Given the description of an element on the screen output the (x, y) to click on. 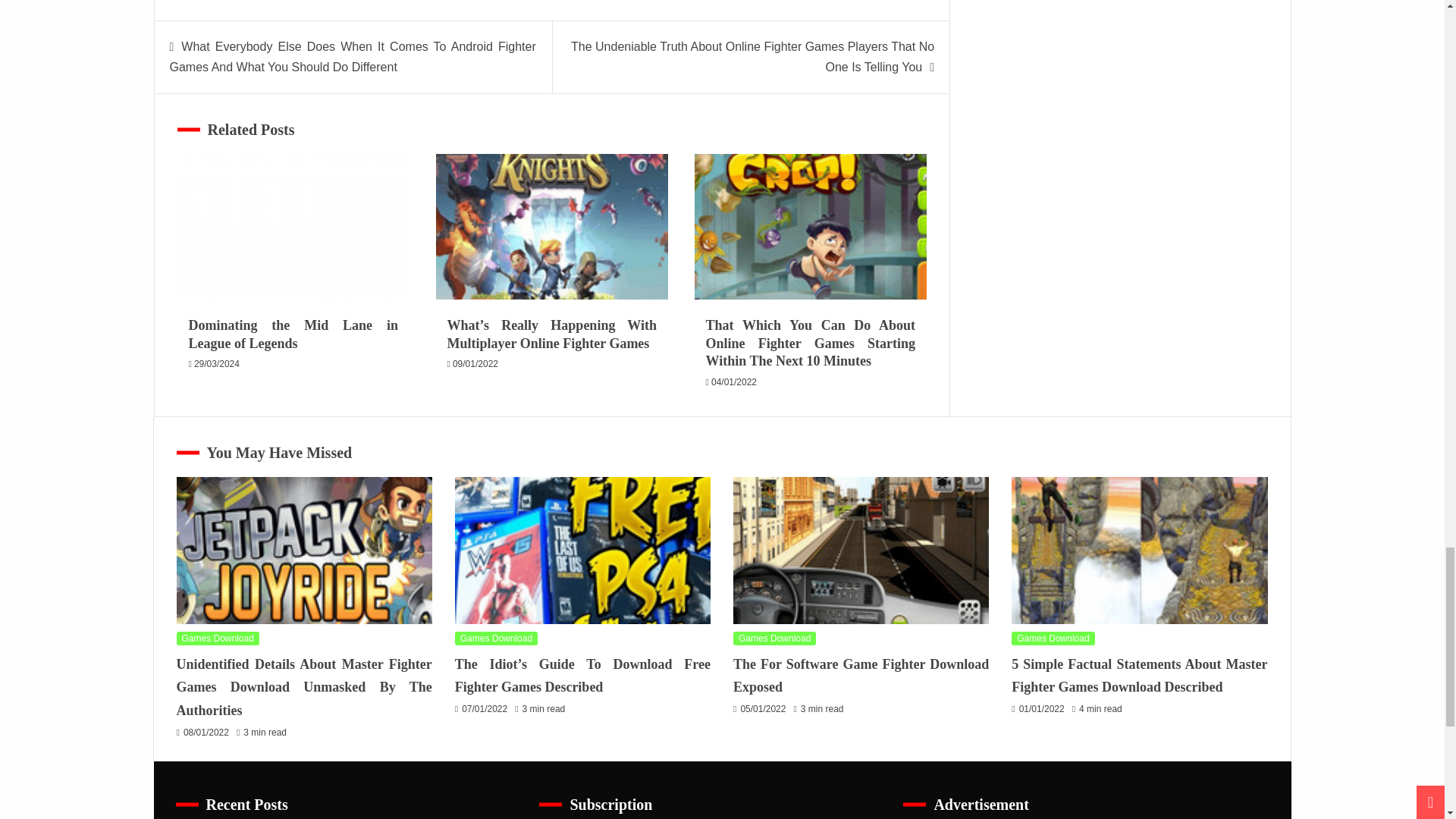
The For Software Game Fighter Download Exposed (860, 550)
Dominating the Mid Lane in League of Legends (292, 333)
Dominating the Mid Lane in League of Legends (293, 226)
The Idiot's Guide To Download Free Fighter Games Described (582, 550)
